Given the description of an element on the screen output the (x, y) to click on. 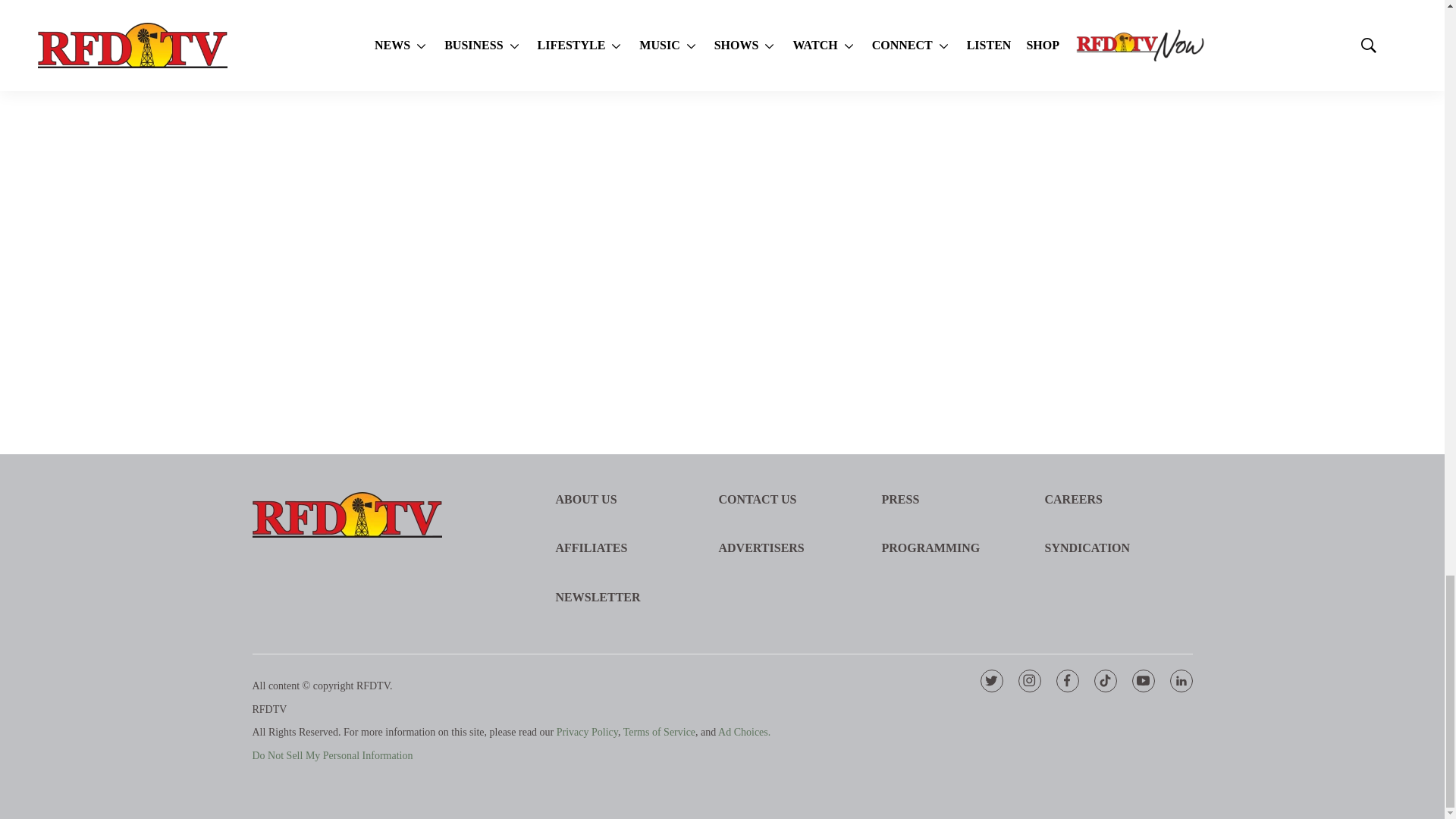
Signup Widget Embed (1070, 174)
